Given the description of an element on the screen output the (x, y) to click on. 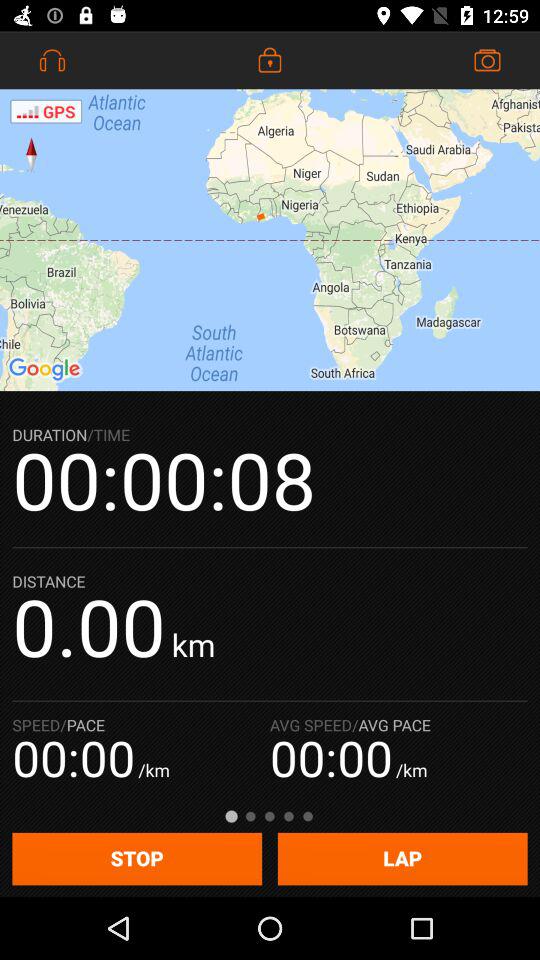
flip to the lap (402, 858)
